Given the description of an element on the screen output the (x, y) to click on. 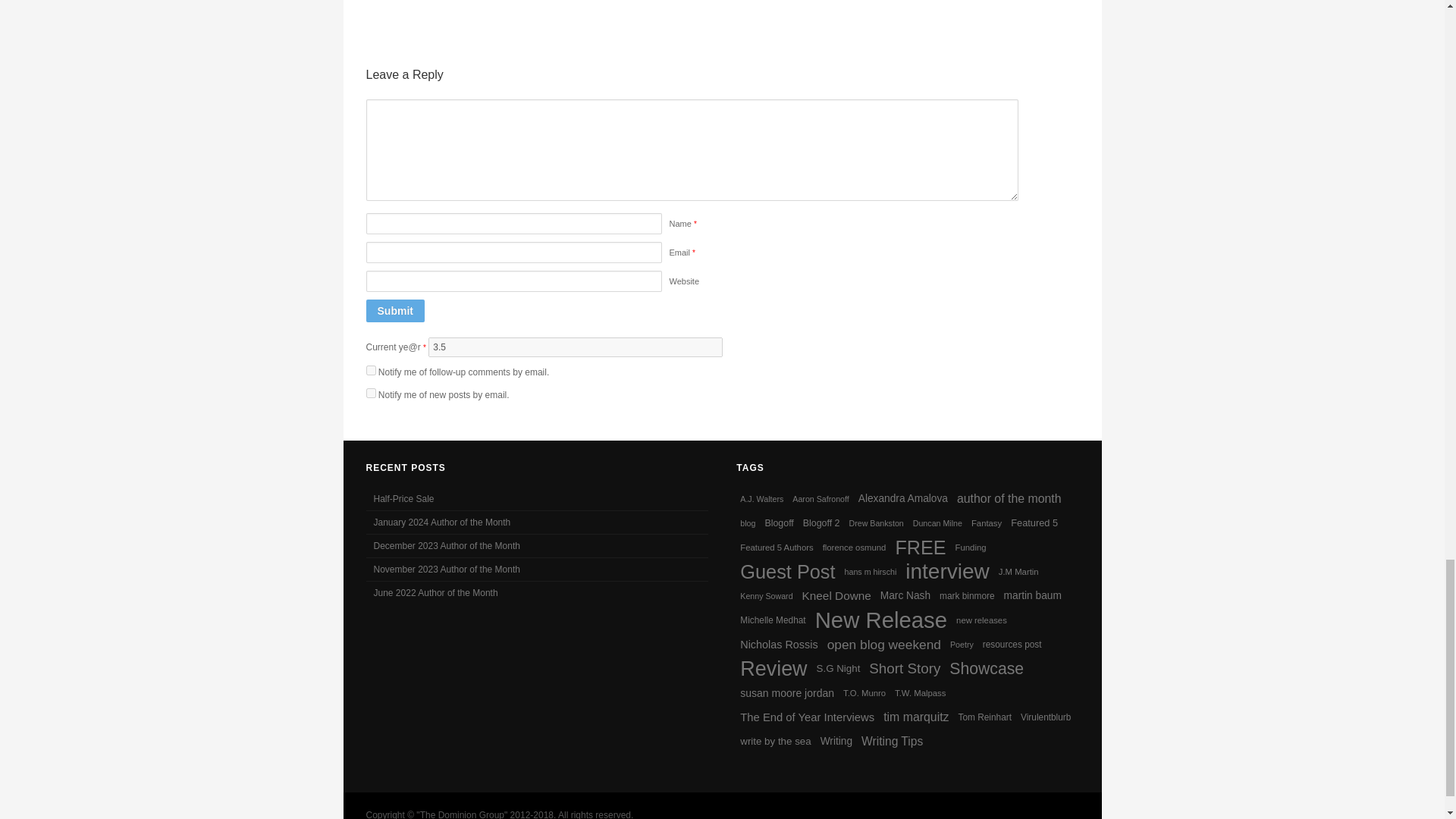
Submit (394, 310)
3.5 (575, 347)
subscribe (370, 370)
subscribe (370, 393)
